Given the description of an element on the screen output the (x, y) to click on. 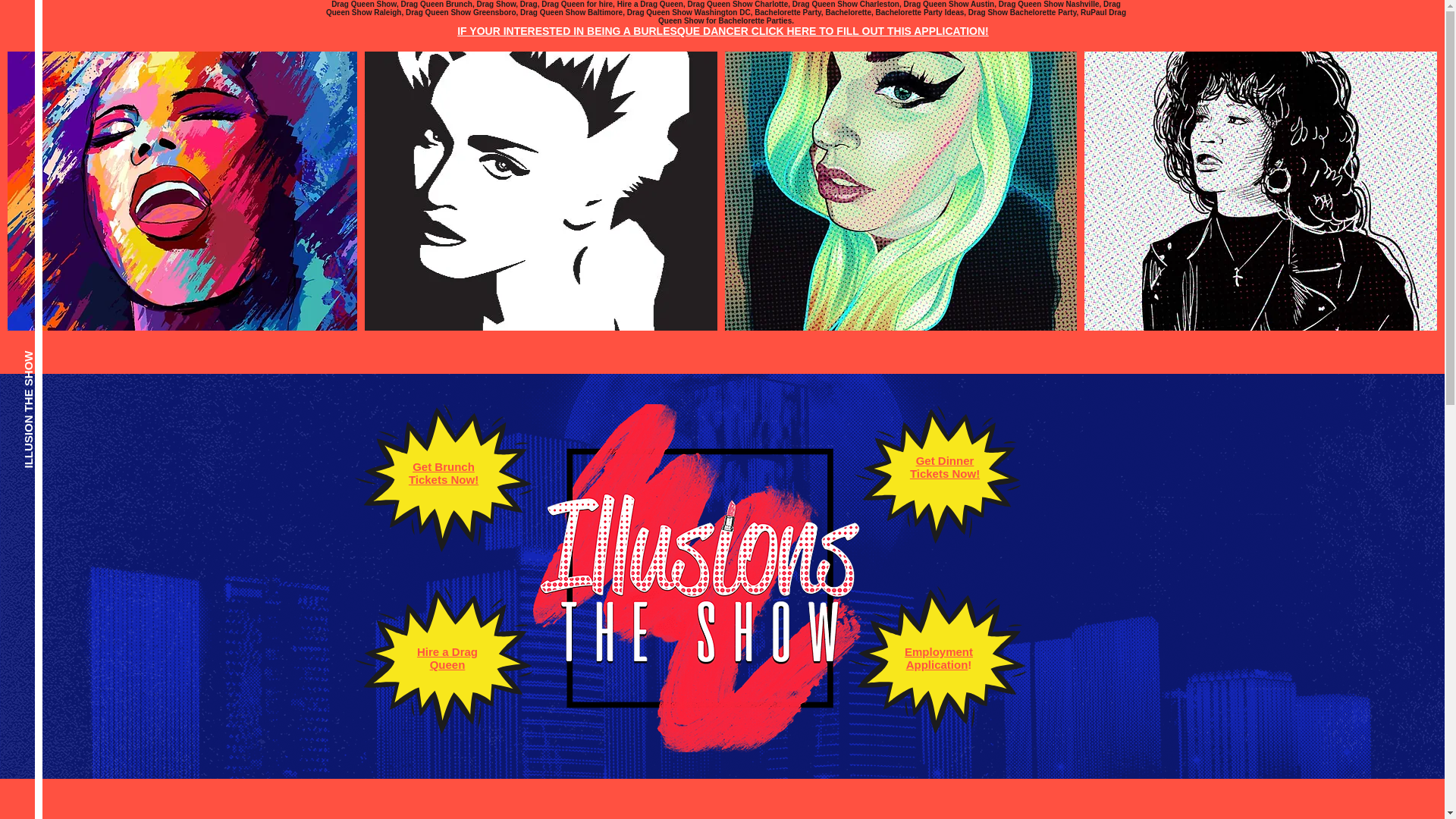
Hire a Drag Queen (446, 657)
Get Dinner Tickets Now! (944, 466)
Employment Application (938, 657)
Get Brunch Tickets Now! (444, 473)
